Given the description of an element on the screen output the (x, y) to click on. 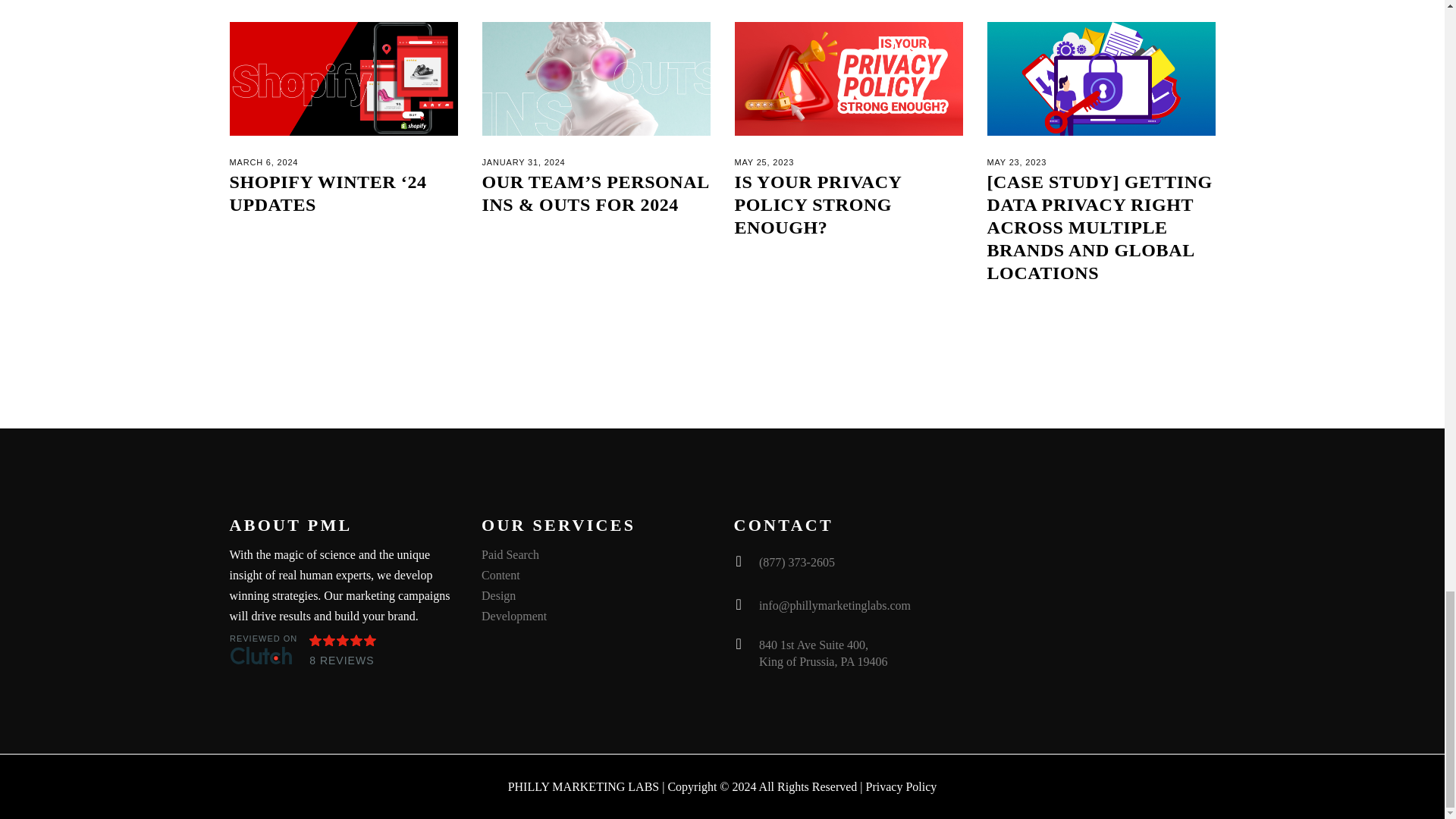
Is Your Privacy Policy Strong Enough? (817, 204)
Is Your Privacy Policy Strong Enough? (847, 79)
